Given the description of an element on the screen output the (x, y) to click on. 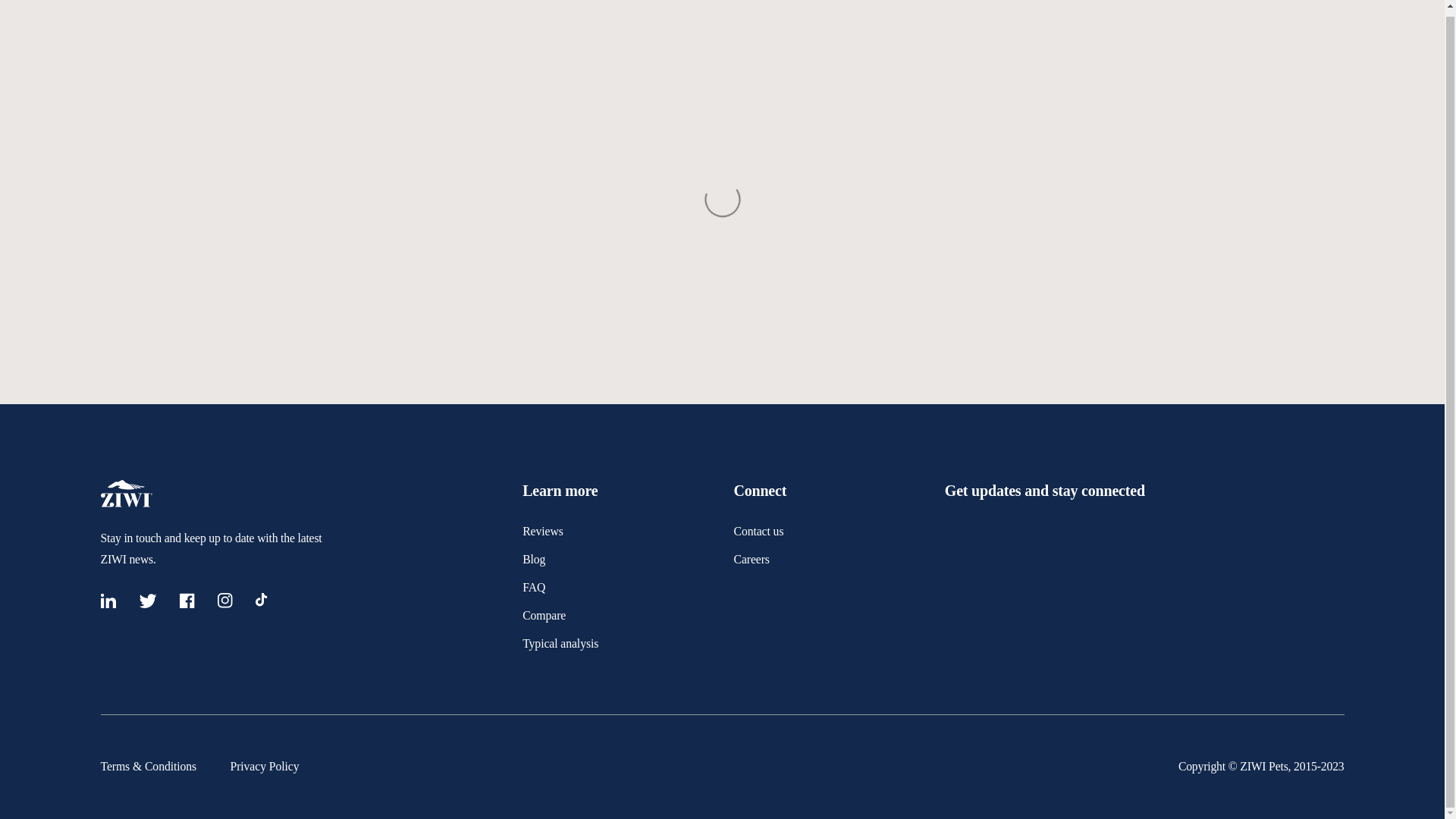
Instagram (223, 603)
Compare (544, 615)
Facebook (186, 603)
Twitter (146, 603)
FAQ (533, 586)
Contact us (758, 530)
Typical analysis (560, 643)
Linkedin (107, 603)
Reviews (542, 530)
Careers (750, 558)
